Given the description of an element on the screen output the (x, y) to click on. 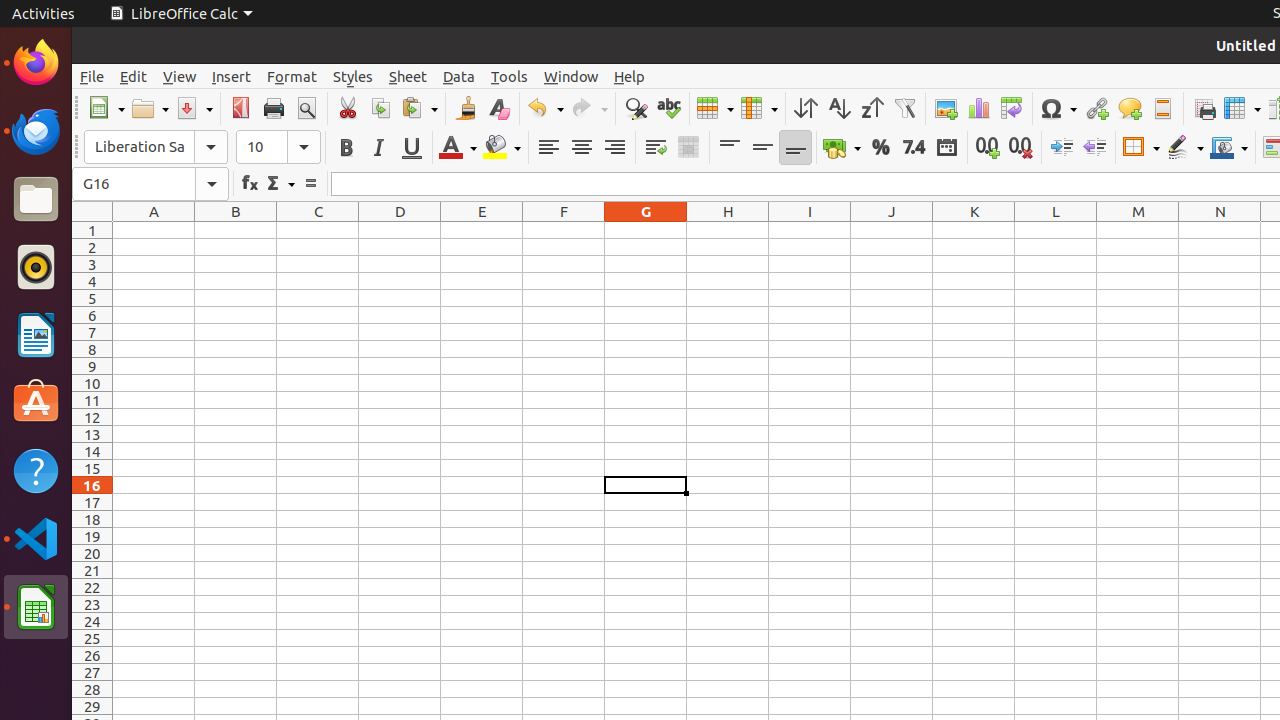
Redo Element type: push-button (589, 108)
New Element type: push-button (106, 108)
Sort Descending Element type: push-button (871, 108)
Pivot Table Element type: push-button (1011, 108)
Italic Element type: toggle-button (378, 147)
